Given the description of an element on the screen output the (x, y) to click on. 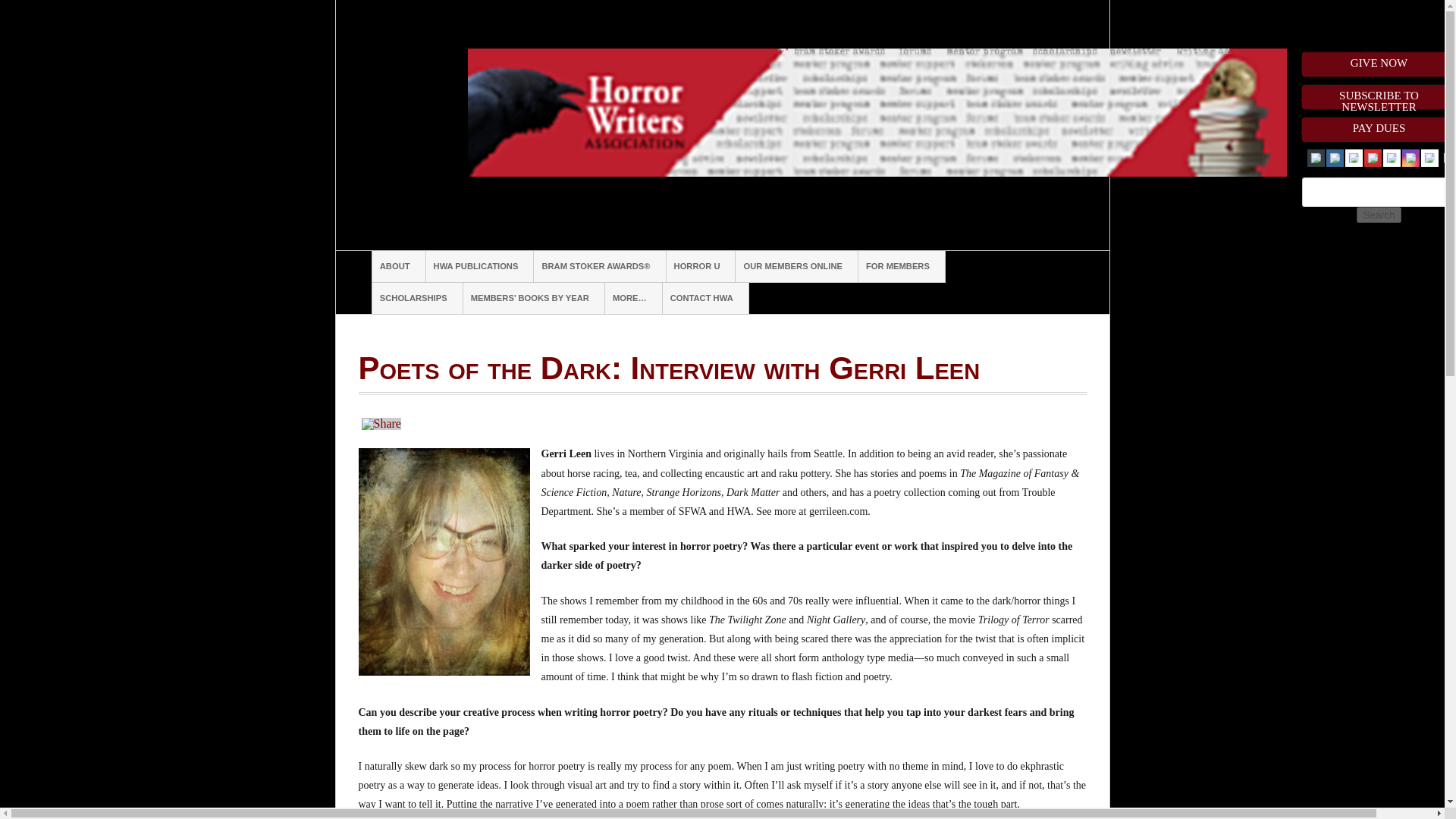
Search (1378, 214)
Facebook (1334, 157)
Email us. (1315, 157)
Subscribe to our Quick Bites public newsletter. (1378, 96)
Search (1378, 214)
Discord (1353, 157)
Click to go to your WildApricot profile to pay your dues. (1378, 129)
YouTube (1372, 157)
Slasher TV (1391, 157)
ABOUT (398, 266)
